Given the description of an element on the screen output the (x, y) to click on. 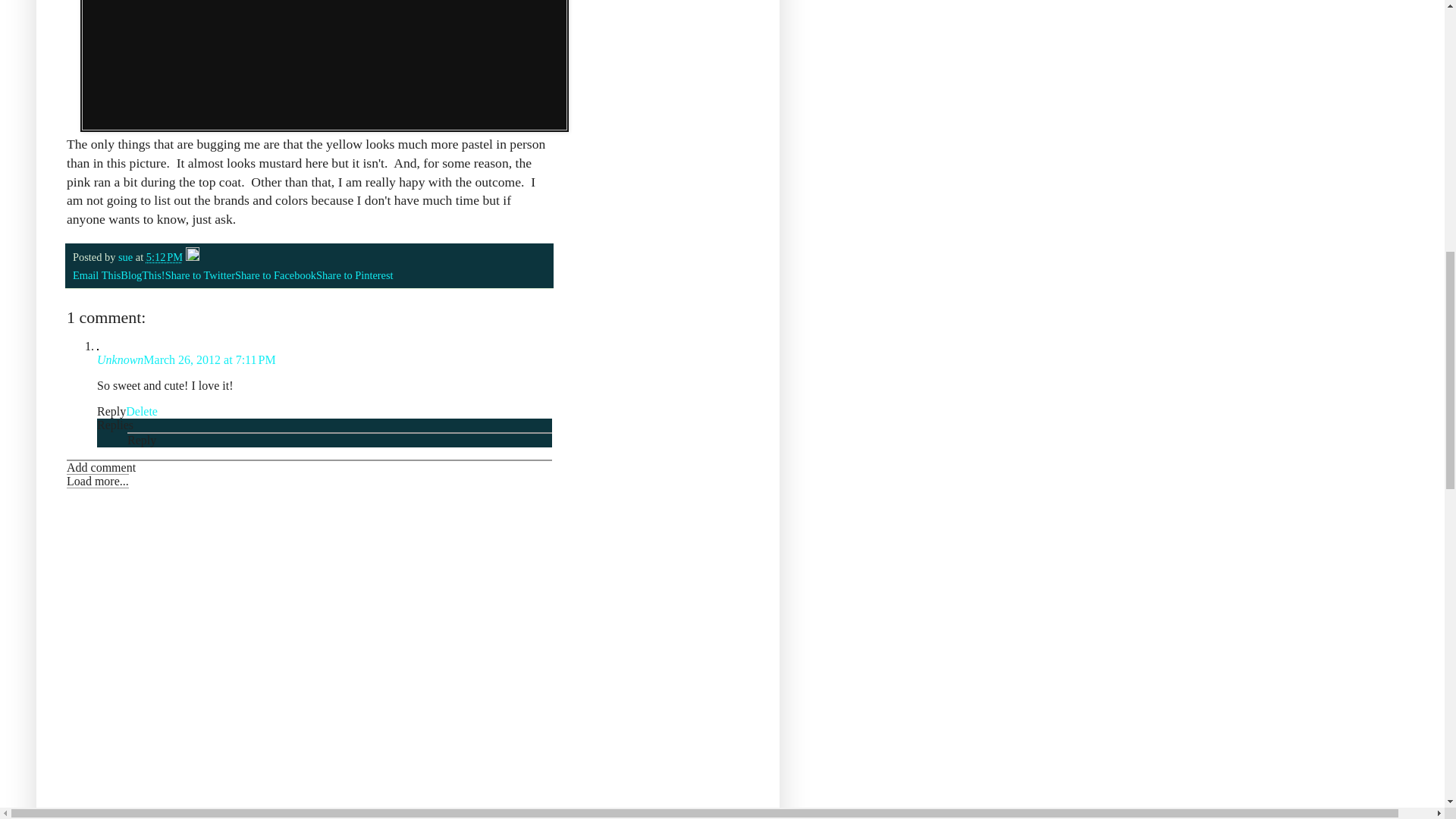
Share to Twitter (199, 275)
Unknown (119, 359)
Share to Facebook (274, 275)
Reply (141, 440)
Replies (115, 424)
Reply (111, 410)
BlogThis! (142, 275)
Delete (141, 410)
Share to Pinterest (354, 275)
Load more... (97, 481)
Share to Pinterest (354, 275)
sue (126, 256)
Share to Facebook (274, 275)
